Given the description of an element on the screen output the (x, y) to click on. 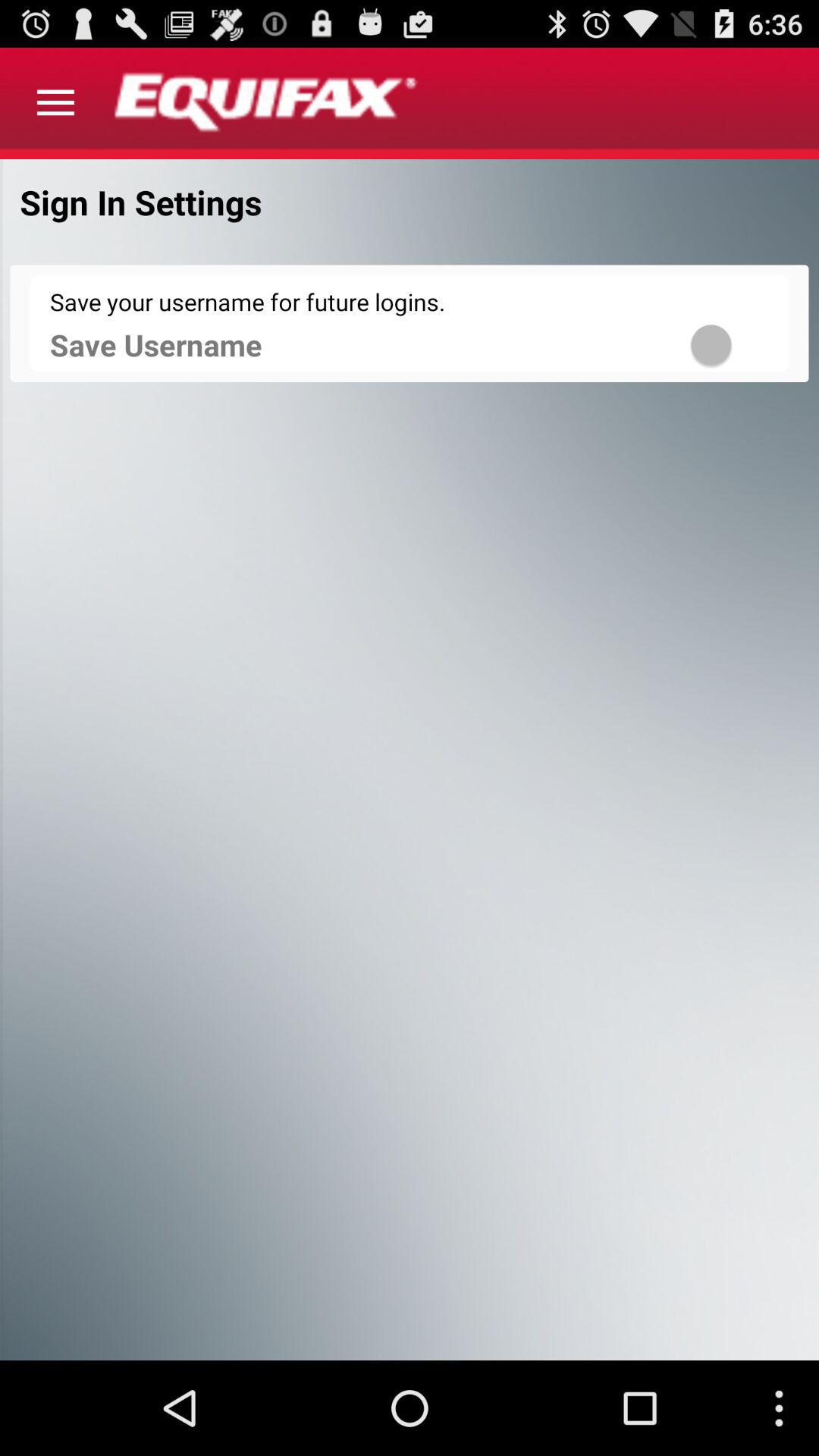
choose item next to the save username item (731, 344)
